Given the description of an element on the screen output the (x, y) to click on. 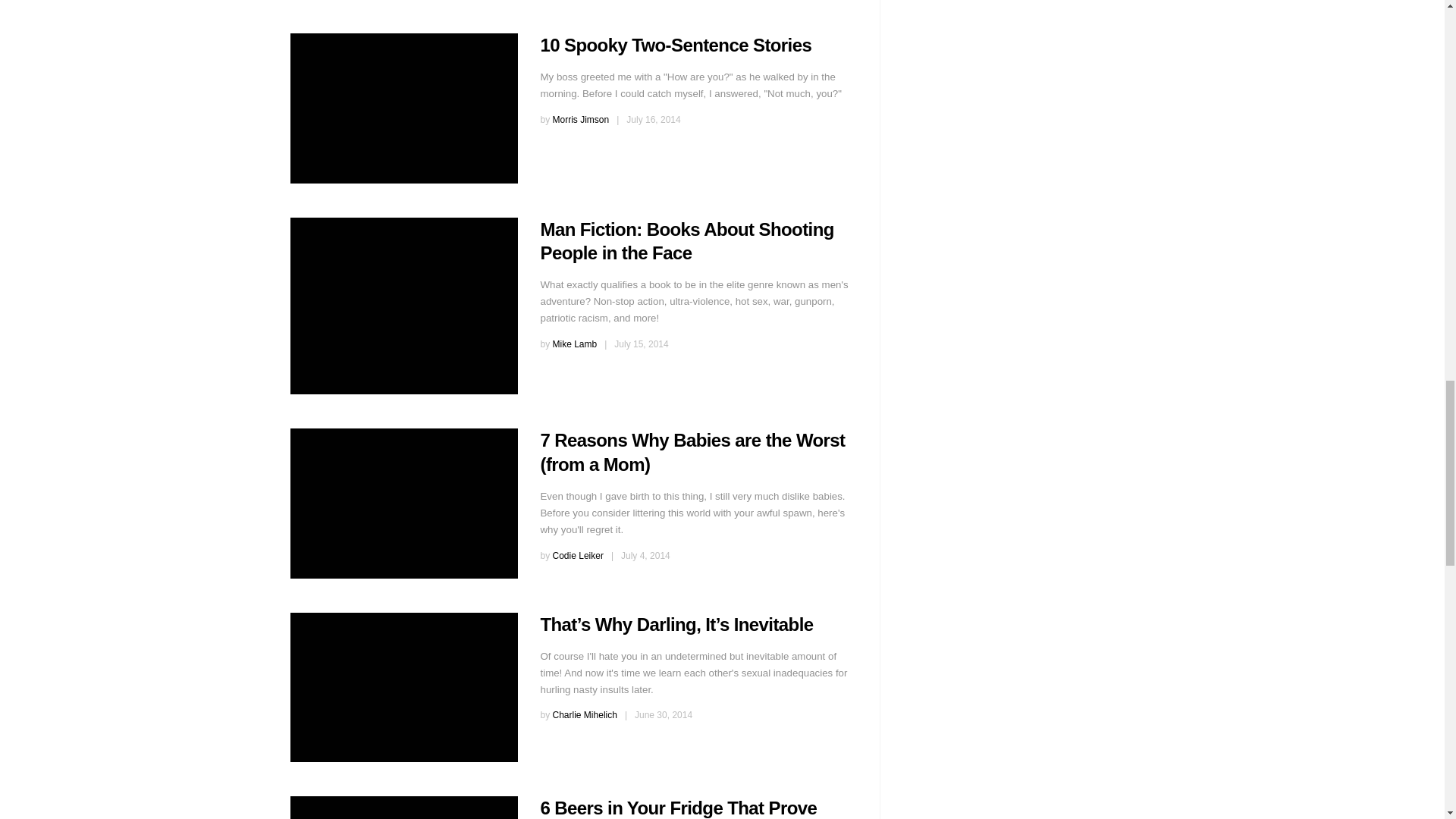
Morris Jimson (581, 119)
10 Spooky Two-Sentence Stories (675, 45)
Posts by Morris Jimson (581, 119)
10 Spooky Two-Sentence Stories (402, 108)
